Given the description of an element on the screen output the (x, y) to click on. 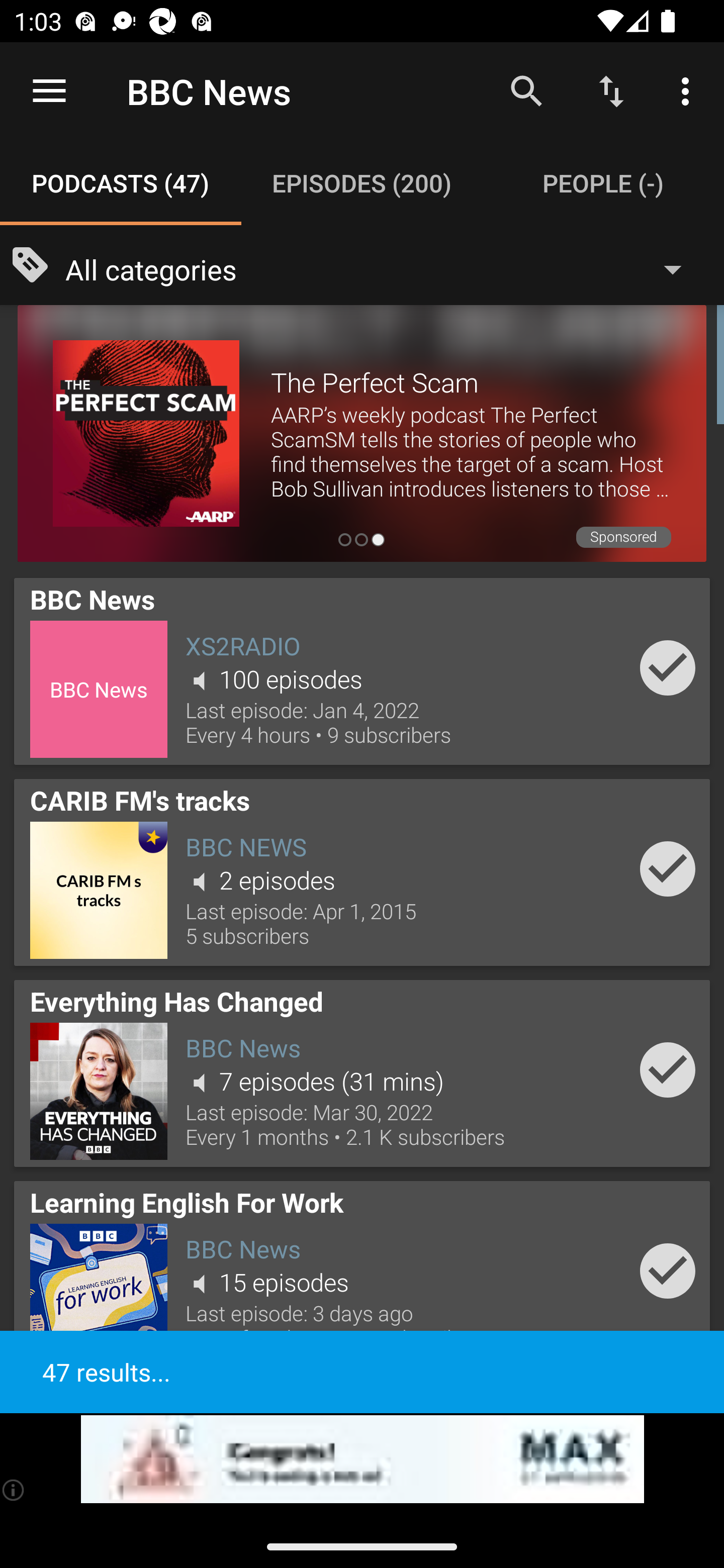
Open navigation sidebar (49, 91)
Search (526, 90)
Sort (611, 90)
More options (688, 90)
Episodes (200) EPISODES (200) (361, 183)
People (-) PEOPLE (-) (603, 183)
All categories (383, 268)
Add (667, 667)
Add (667, 868)
Add (667, 1069)
Add (667, 1271)
app-monetization (362, 1459)
(i) (14, 1489)
